Given the description of an element on the screen output the (x, y) to click on. 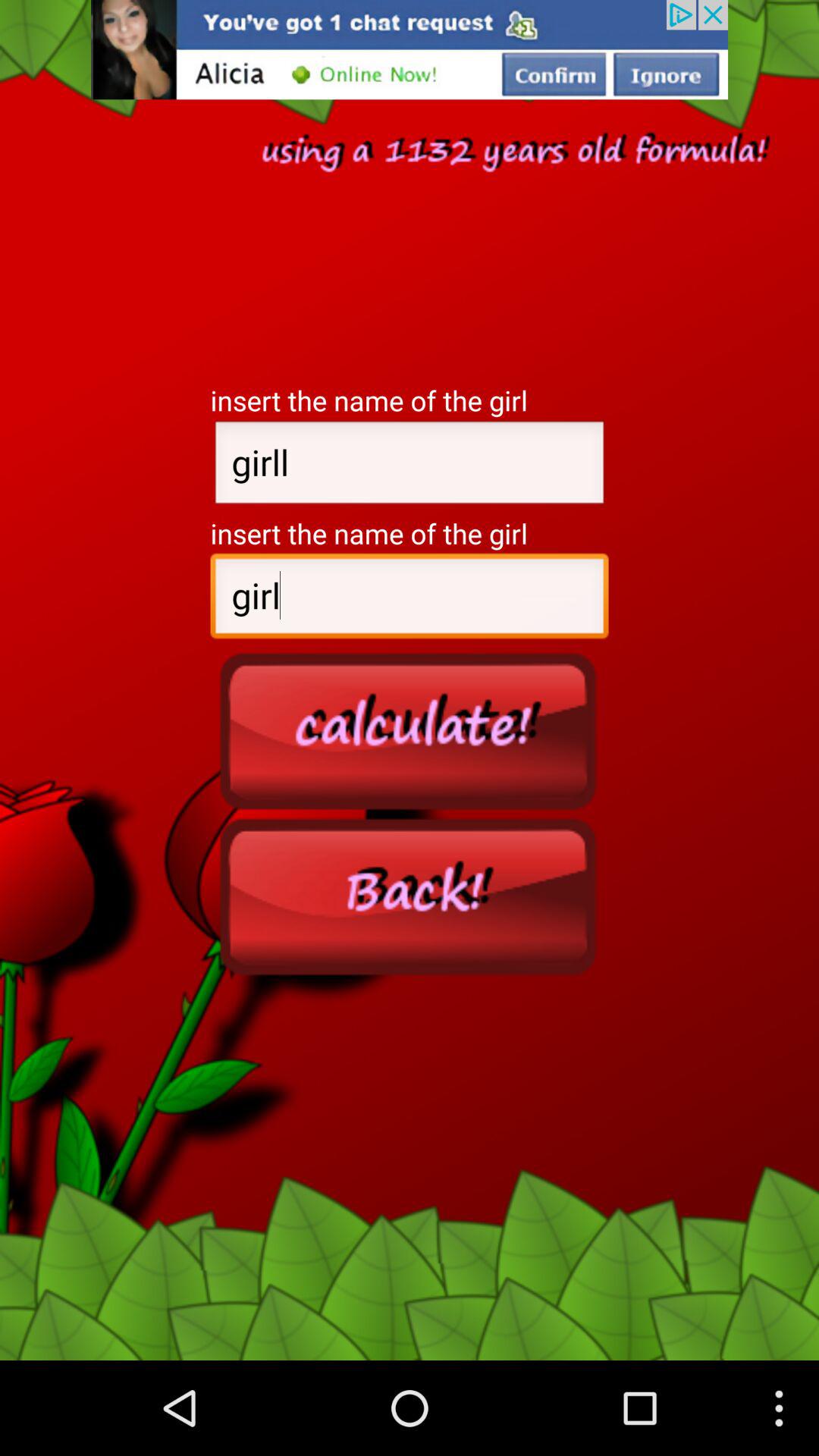
go back (409, 895)
